Given the description of an element on the screen output the (x, y) to click on. 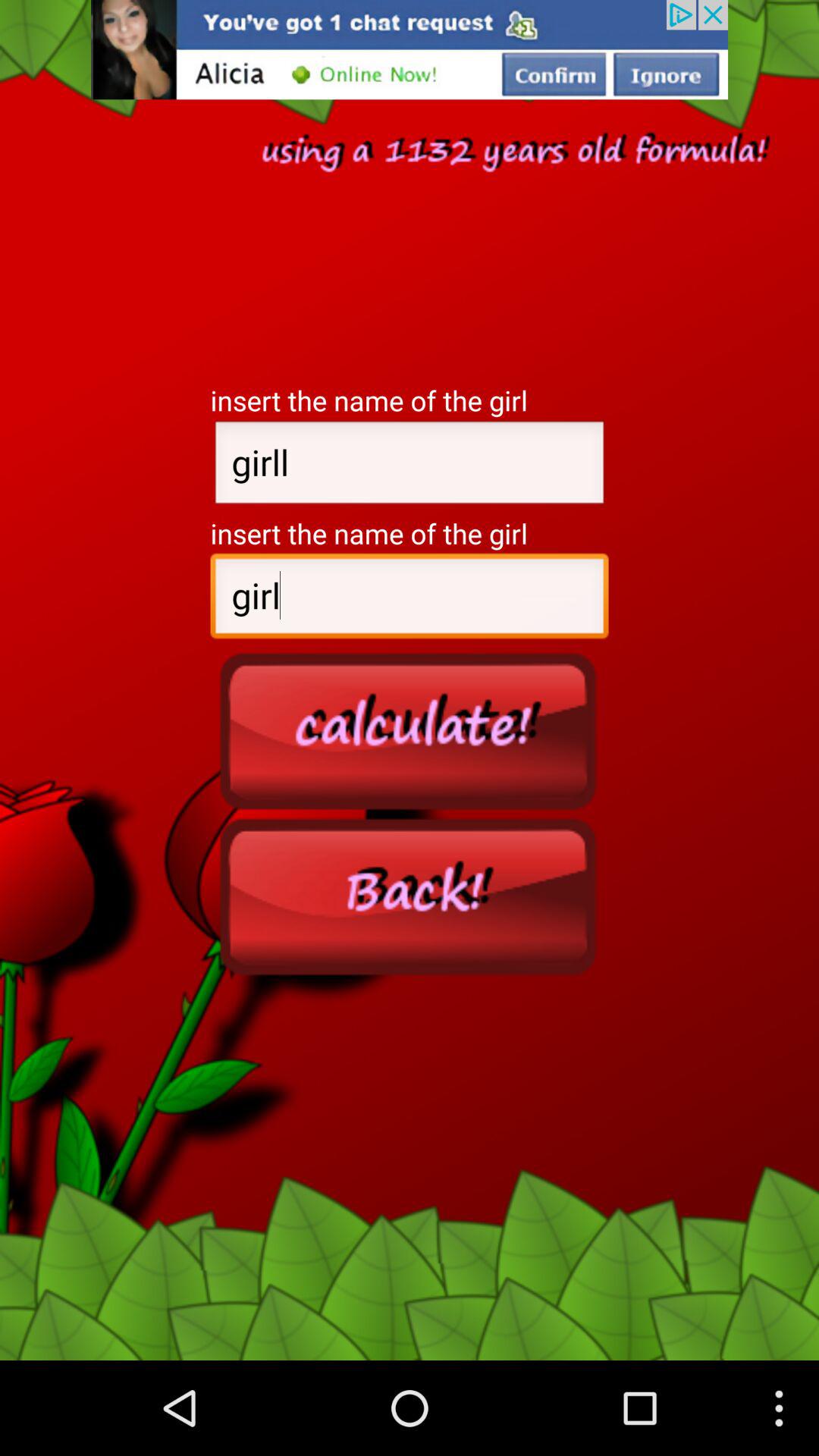
go back (409, 895)
